Given the description of an element on the screen output the (x, y) to click on. 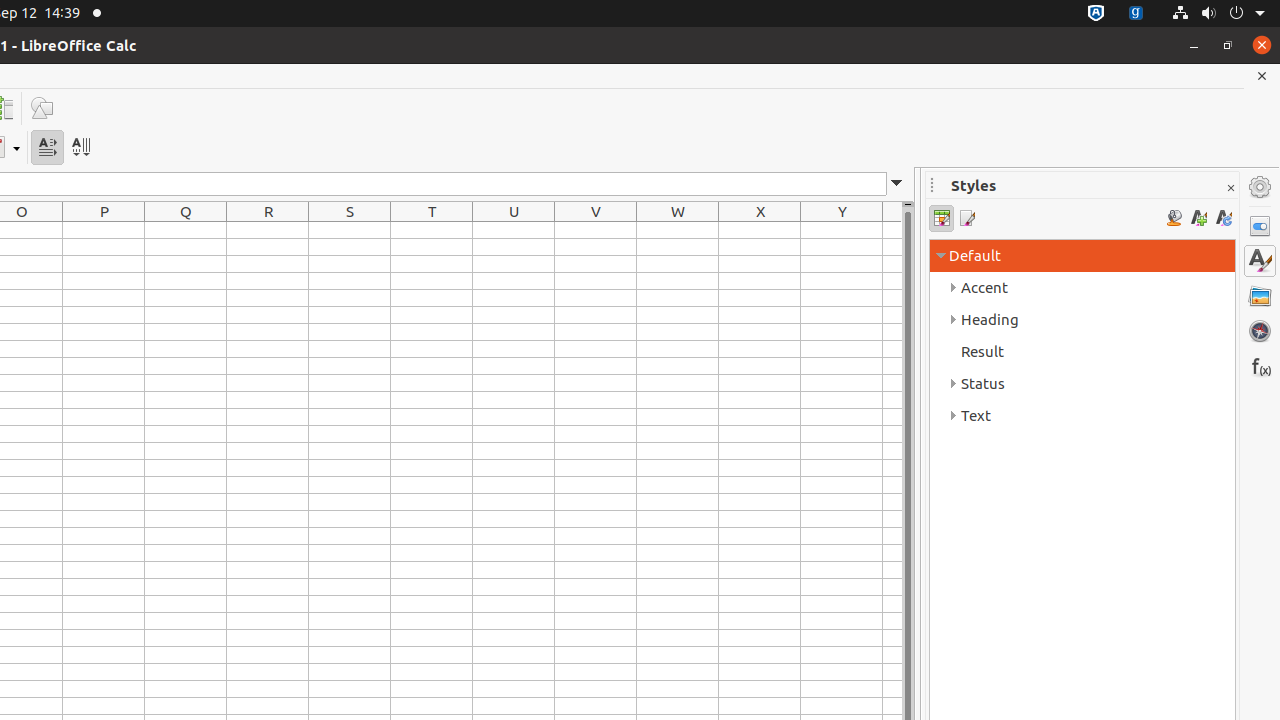
Q1 Element type: table-cell (186, 230)
X1 Element type: table-cell (760, 230)
:1.21/StatusNotifierItem Element type: menu (1136, 13)
Z1 Element type: table-cell (892, 230)
